Given the description of an element on the screen output the (x, y) to click on. 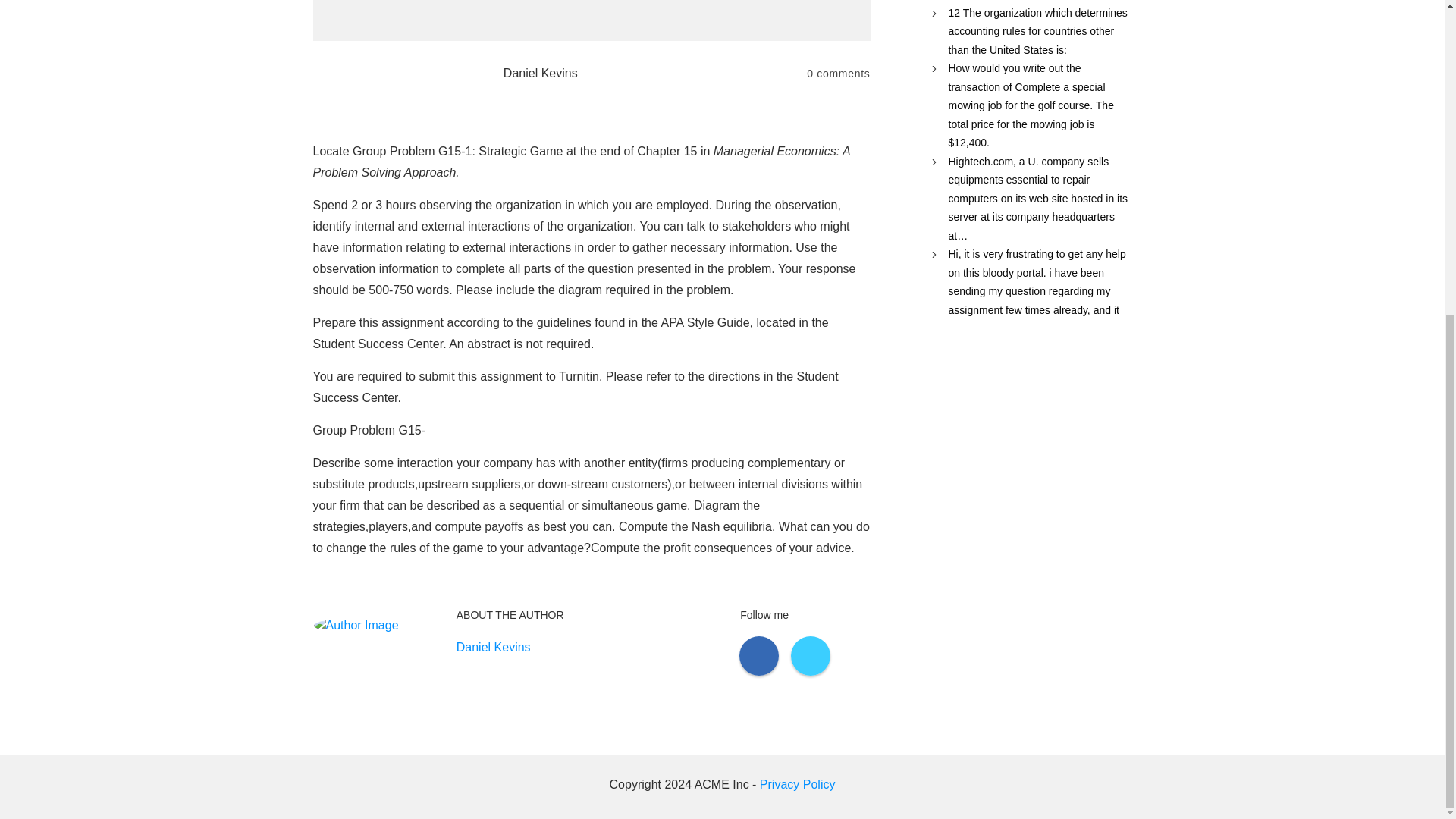
Group Problem G15 (591, 20)
Privacy Policy (797, 784)
Daniel Kevins (494, 647)
